Given the description of an element on the screen output the (x, y) to click on. 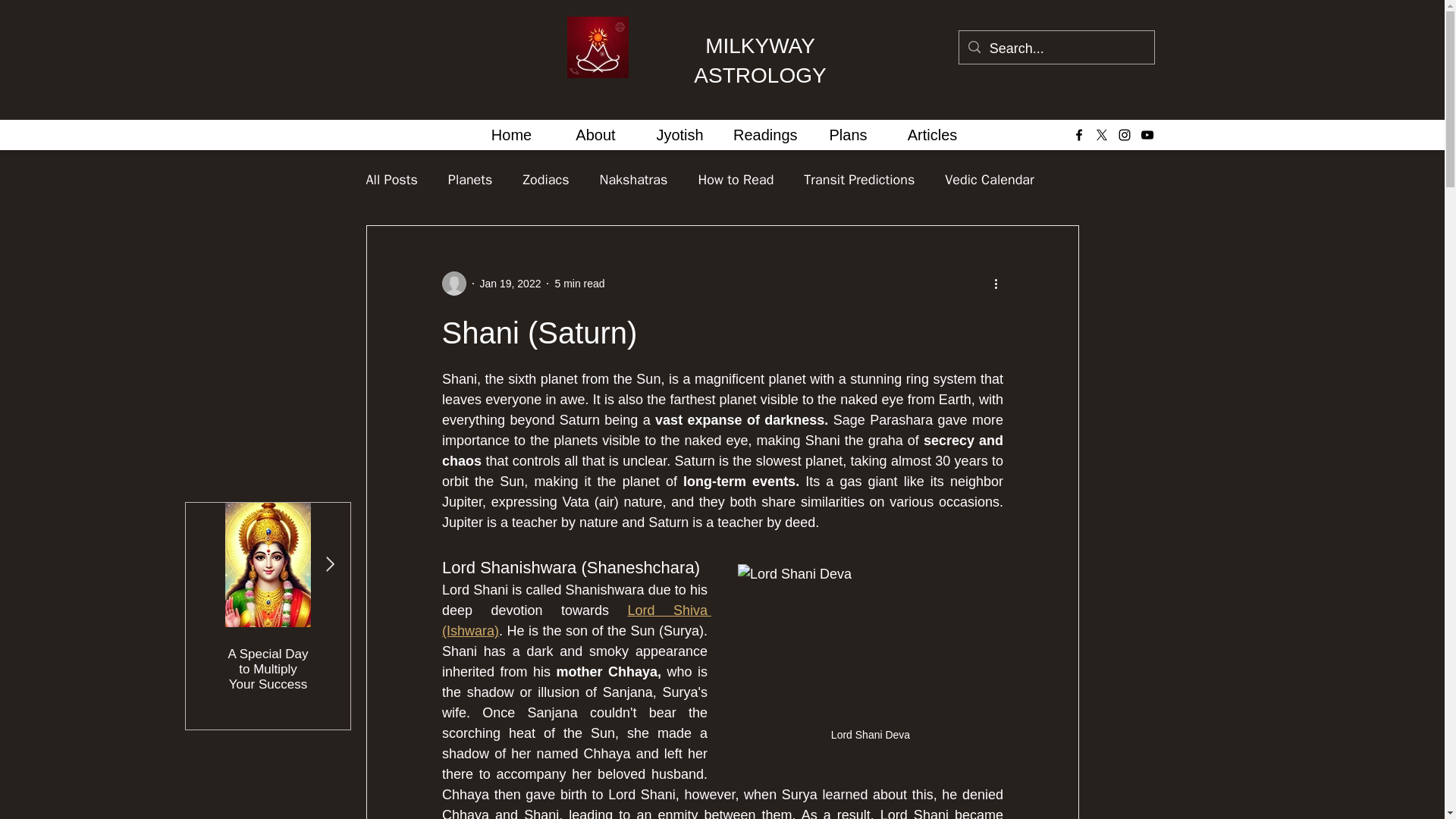
Jyotish (679, 134)
Vedic Calendar (988, 179)
Plans (847, 134)
All Posts (390, 179)
MILKYWAY ASTROLOGY (759, 60)
Readings (764, 134)
About (595, 134)
A Special Day to Multiply Your Success (267, 669)
Articles (931, 134)
Home (510, 134)
Transit Predictions (858, 179)
5 min read (579, 283)
Nakshatras (633, 179)
Significance of the Atma Jyotirlingam Journey (353, 669)
How to Read (735, 179)
